Given the description of an element on the screen output the (x, y) to click on. 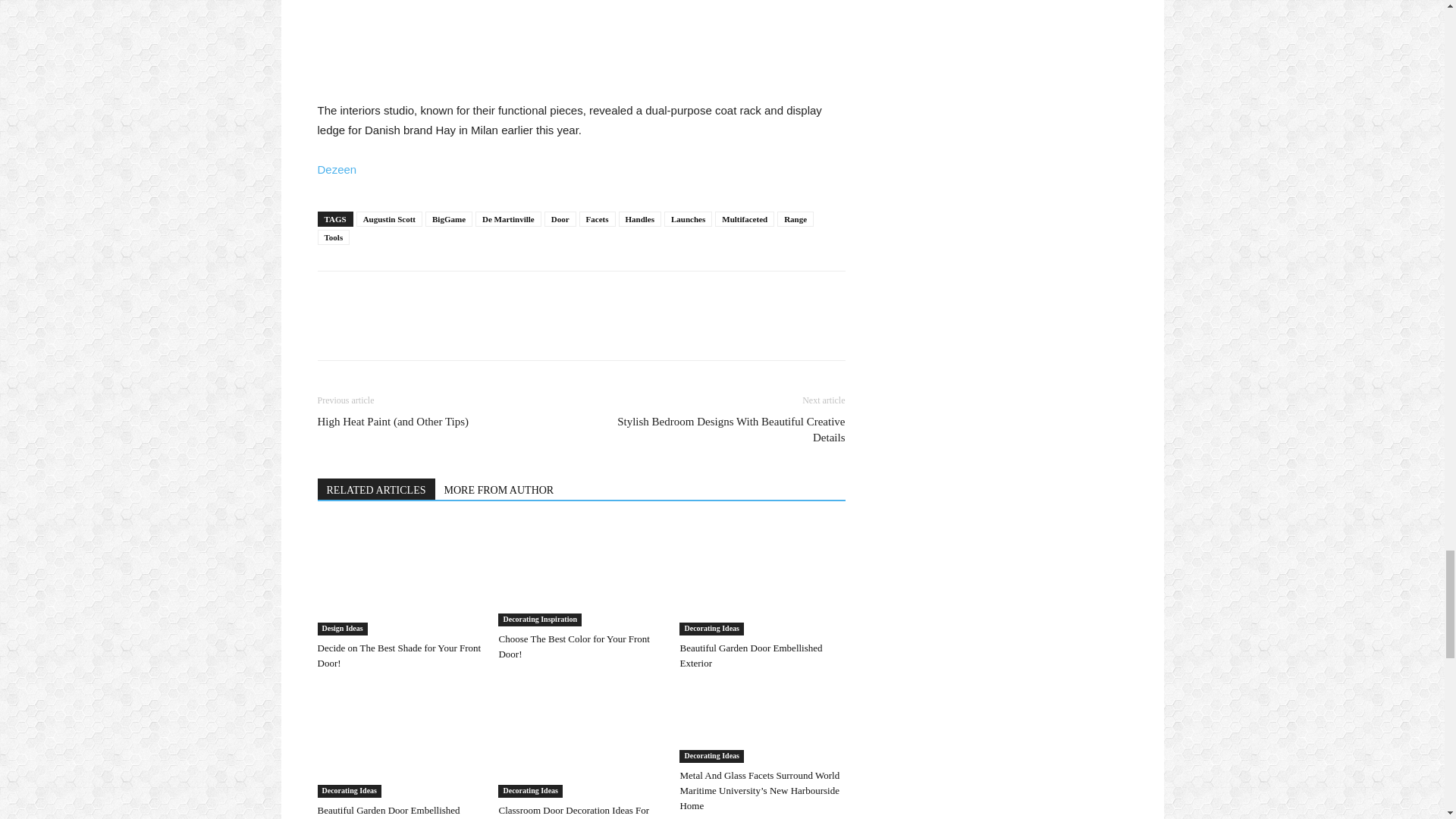
bottomFacebookLike (430, 295)
BigGame (448, 218)
De Martinville (508, 218)
Dezeen (336, 169)
Augustin Scott (389, 218)
